Given the description of an element on the screen output the (x, y) to click on. 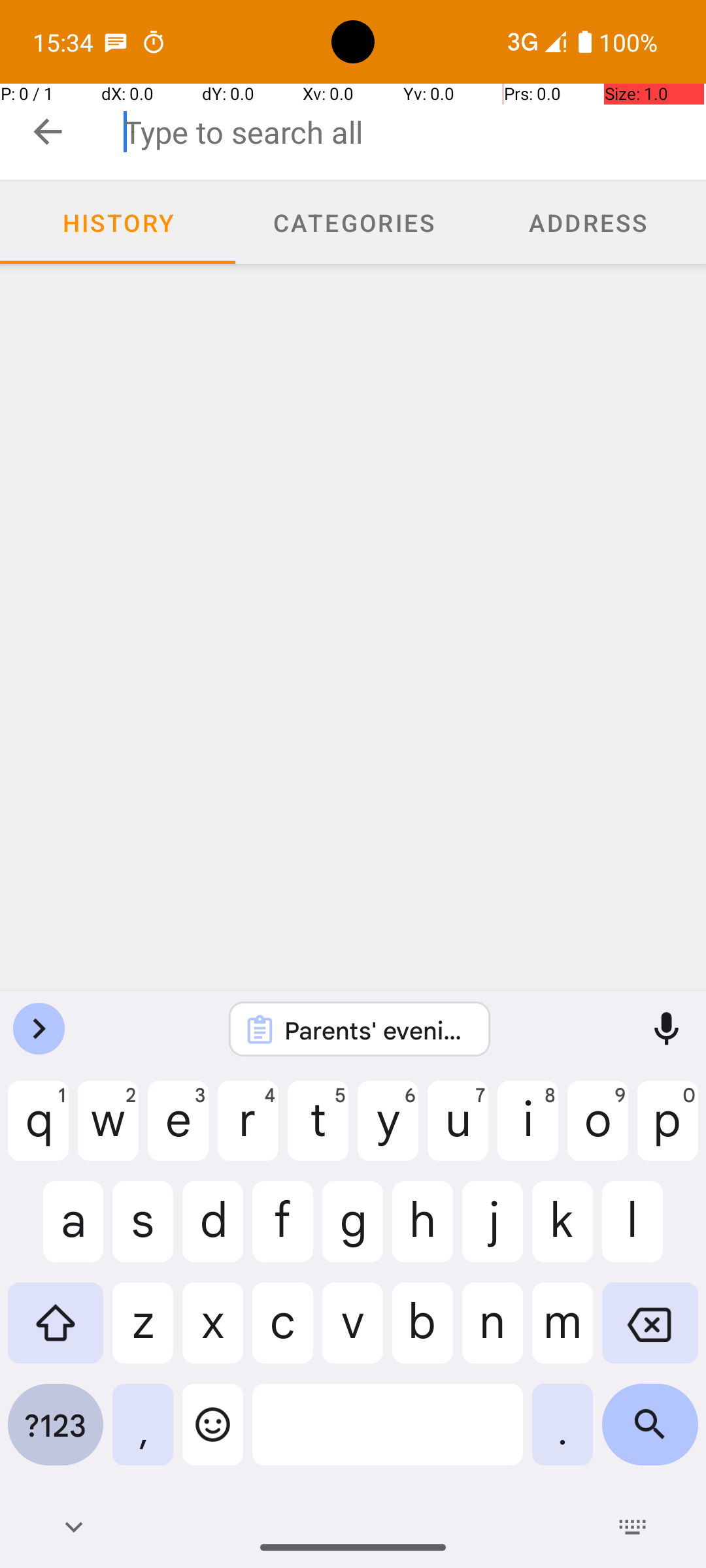
Parents' evening at school this Wednesday. Element type: android.widget.TextView (376, 1029)
